Given the description of an element on the screen output the (x, y) to click on. 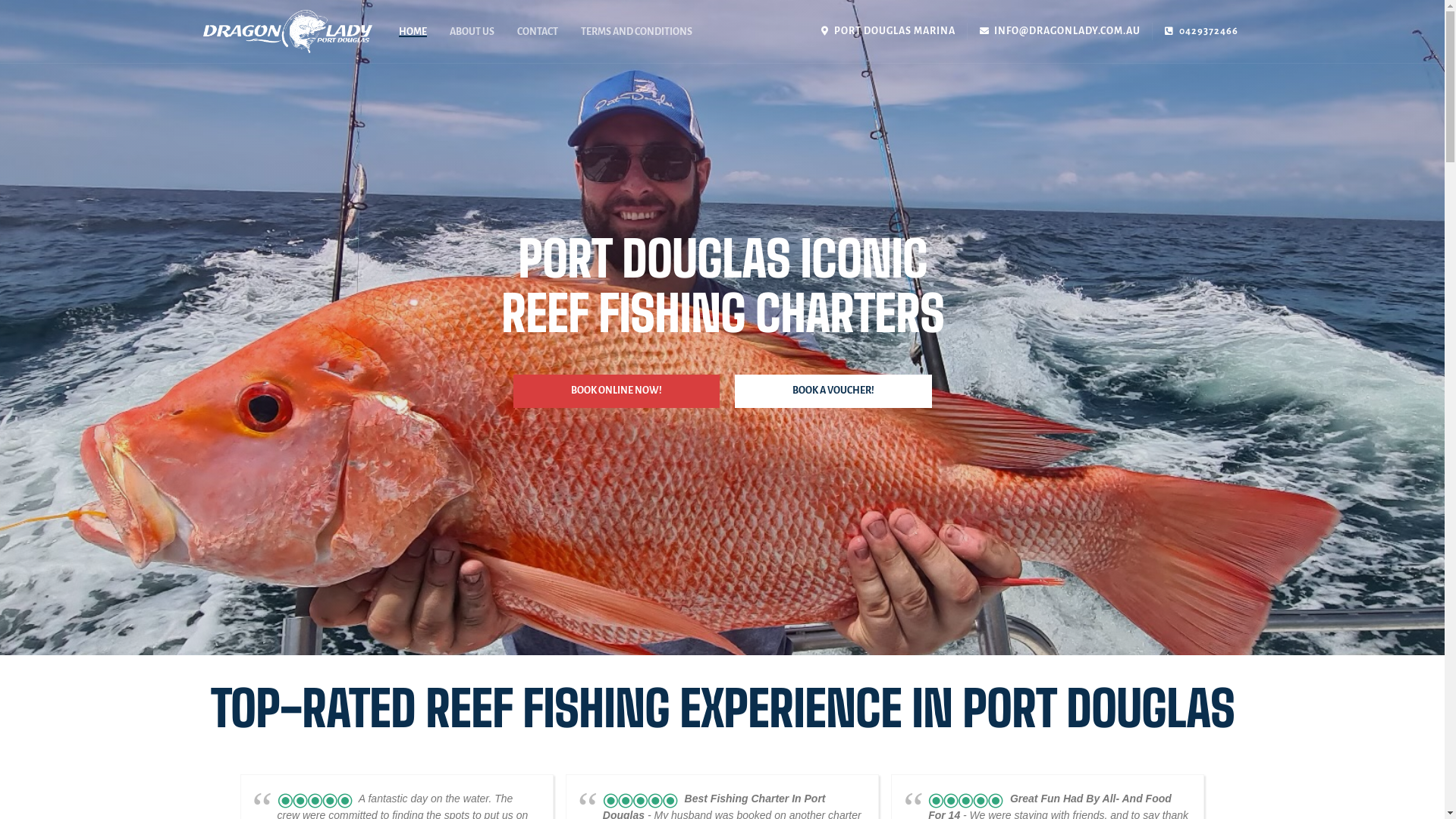
CONTACT Element type: text (536, 31)
INFO@DRAGONLADY.COM.AU Element type: text (1059, 31)
HOME Element type: text (411, 31)
0429372466 Element type: text (1201, 31)
ABOUT US Element type: text (471, 31)
BOOK A VOUCHER! Element type: text (832, 390)
BOOK ONLINE NOW! Element type: text (615, 390)
TERMS AND CONDITIONS Element type: text (635, 31)
